Given the description of an element on the screen output the (x, y) to click on. 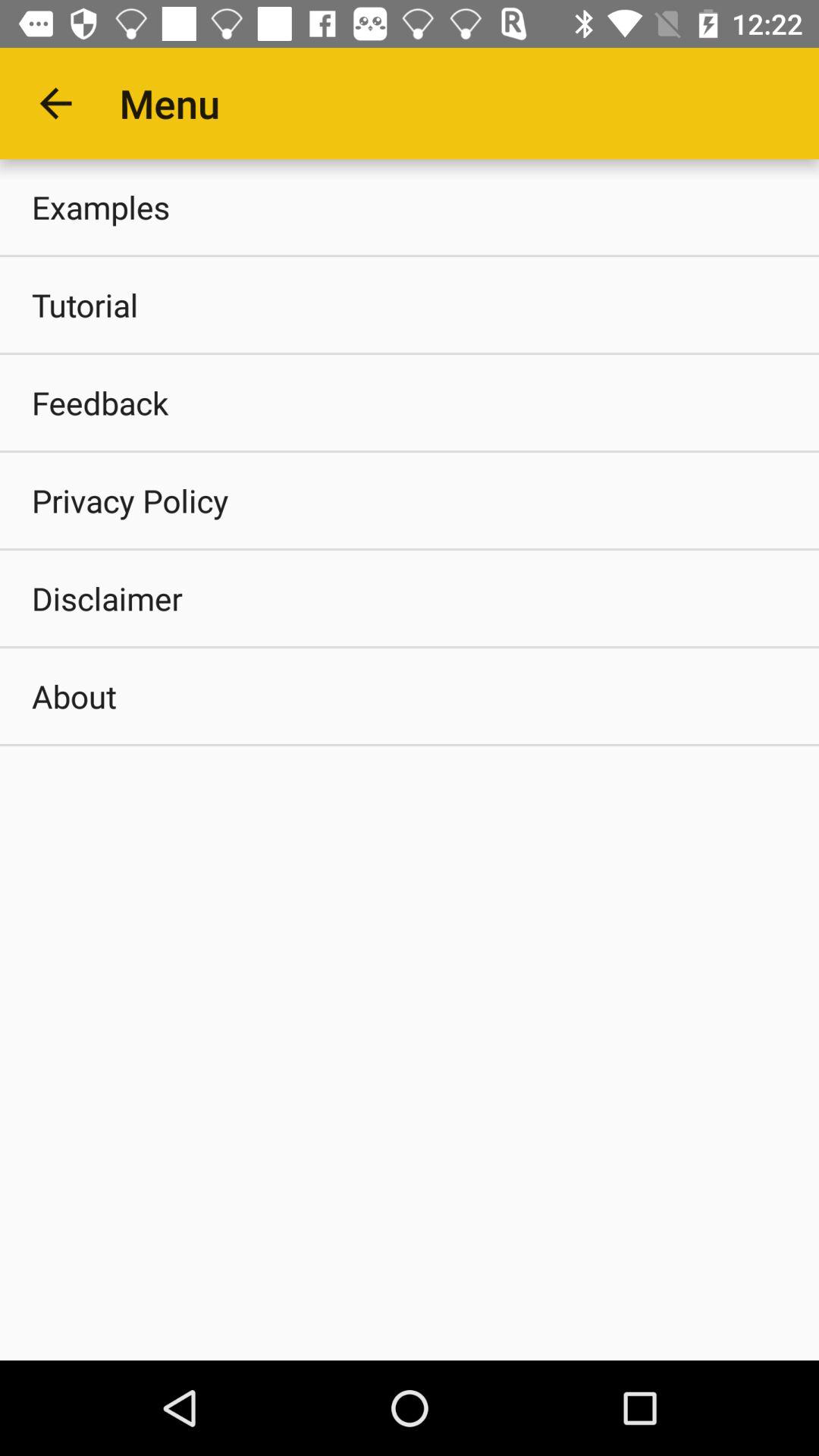
open the privacy policy (409, 500)
